Given the description of an element on the screen output the (x, y) to click on. 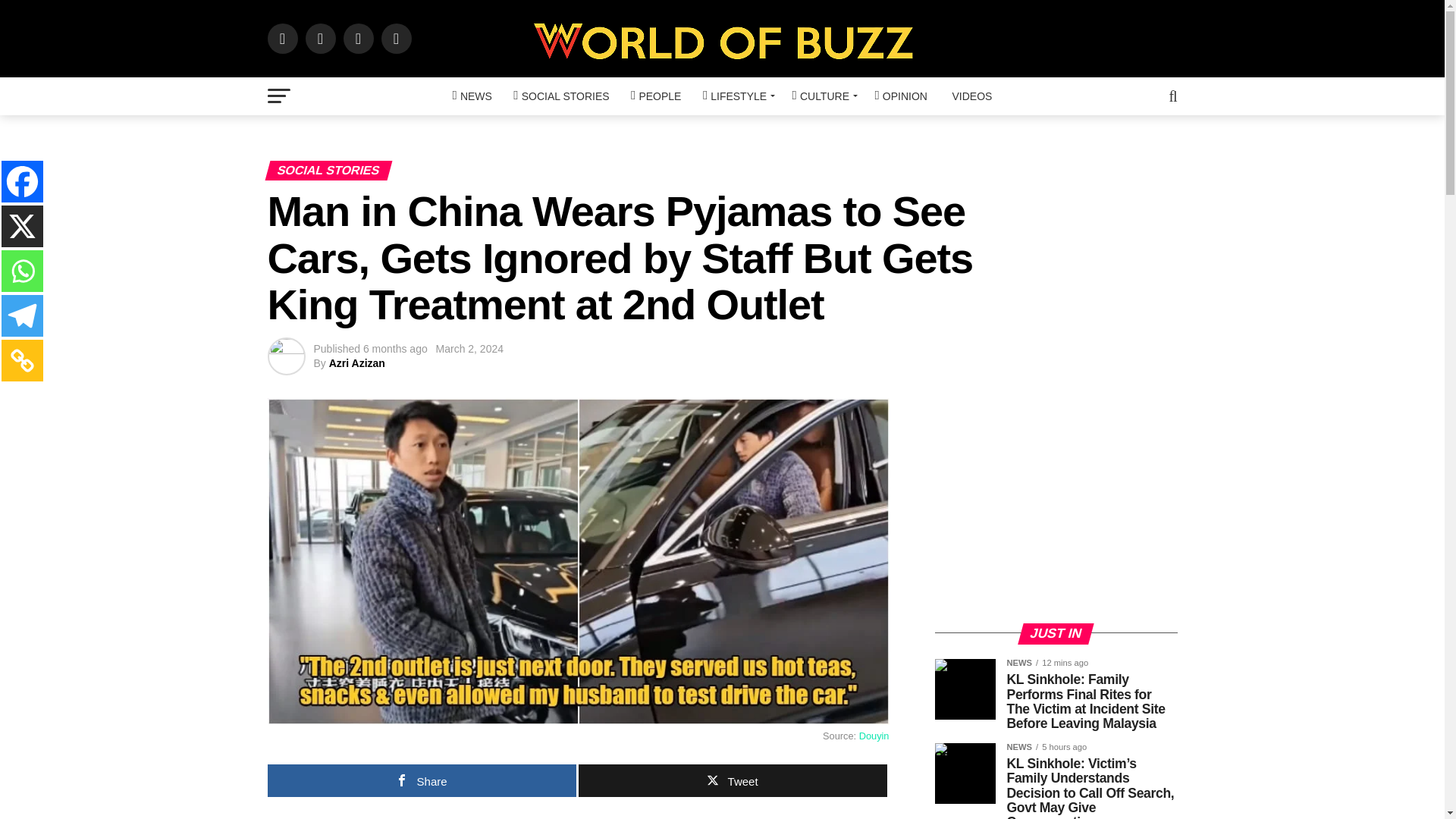
Telegram (22, 315)
Facebook (22, 181)
NEWS (472, 95)
Copy Link (22, 360)
Whatsapp (22, 270)
SOCIAL STORIES (560, 95)
X (22, 226)
